Given the description of an element on the screen output the (x, y) to click on. 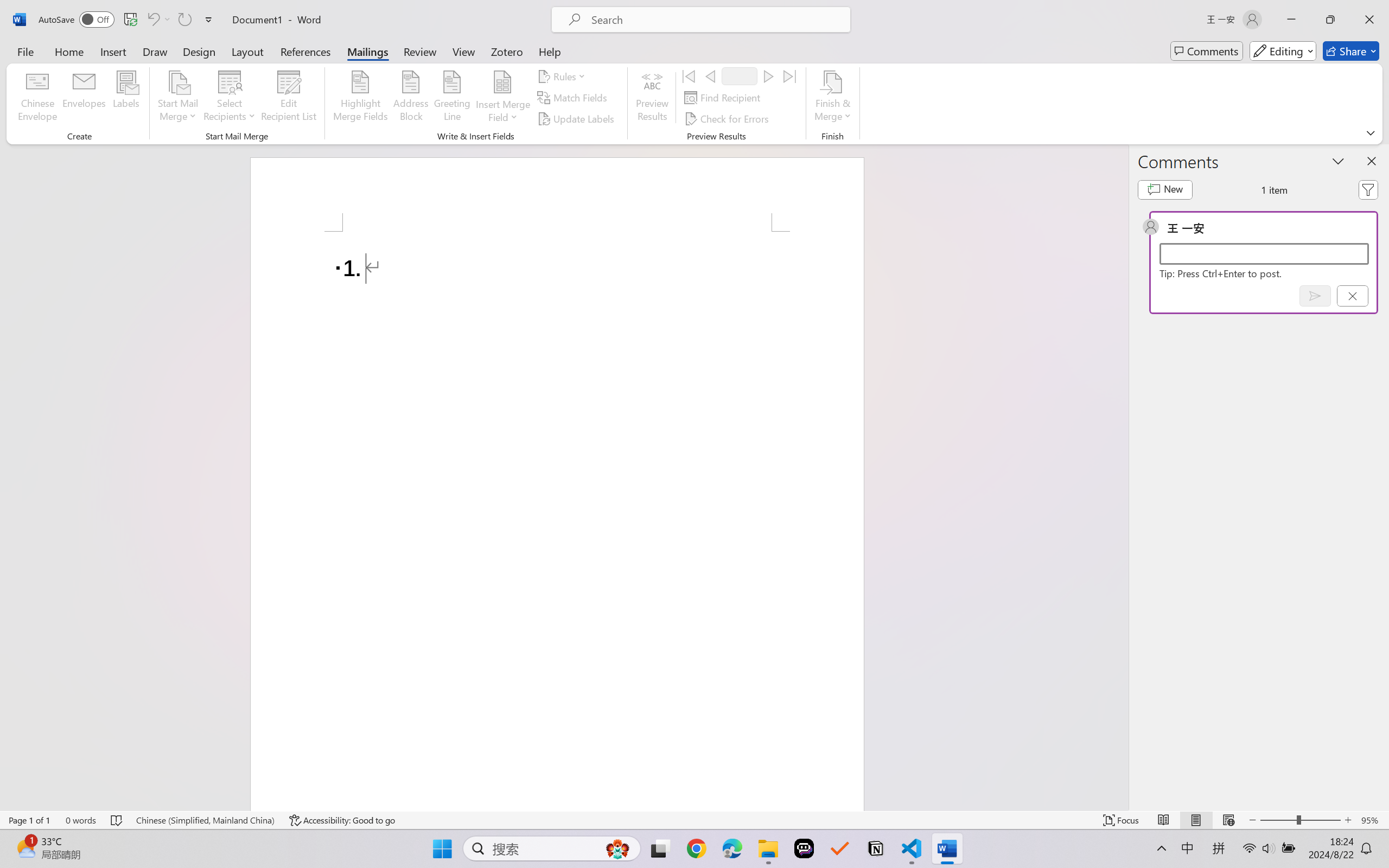
Start a conversation (1263, 254)
Labels... (126, 97)
Finish & Merge (832, 97)
Insert Merge Field (502, 81)
Greeting Line... (451, 97)
Last (790, 75)
